Given the description of an element on the screen output the (x, y) to click on. 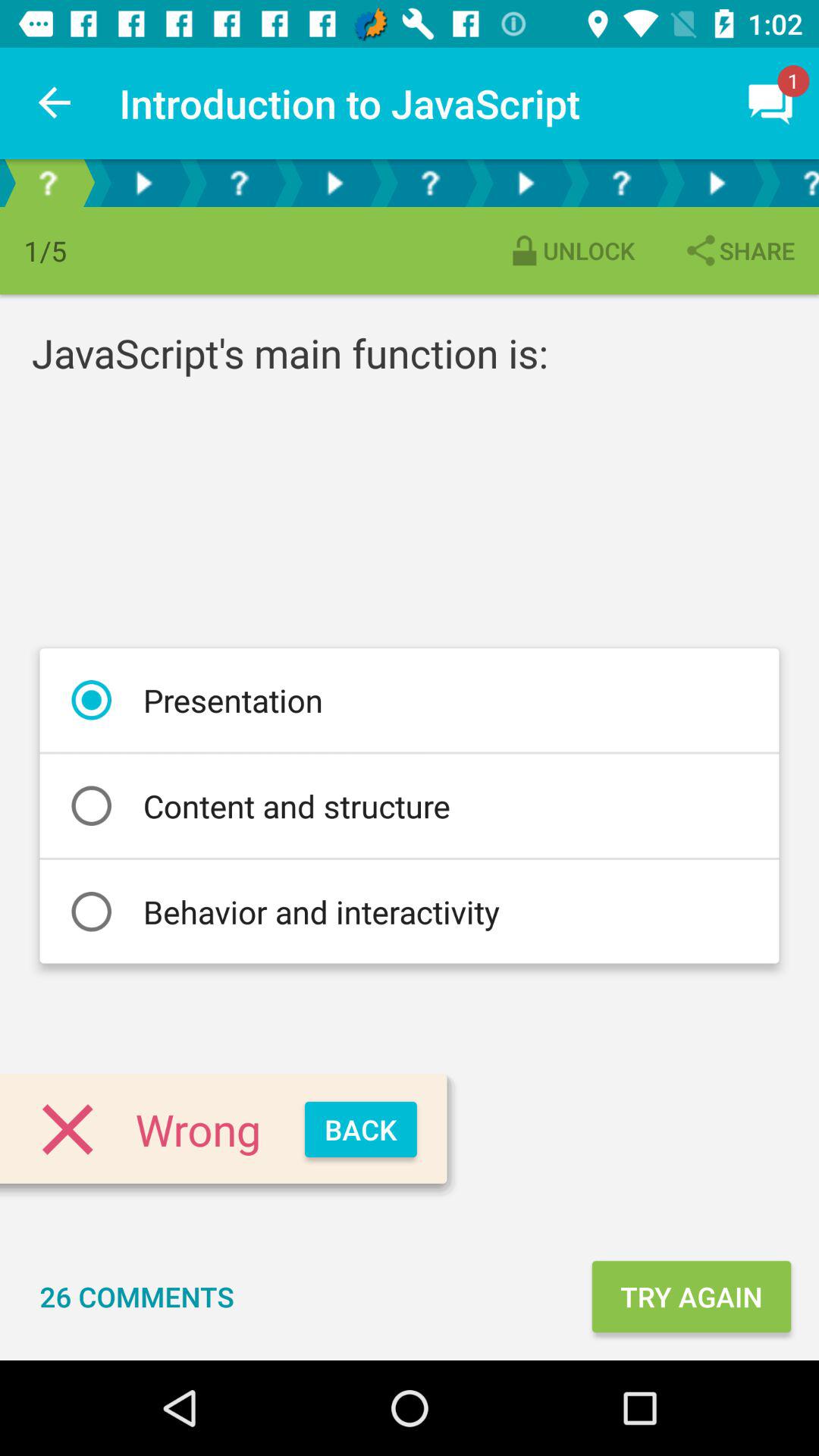
turn on the icon to the left of introduction to javascript (55, 103)
